Given the description of an element on the screen output the (x, y) to click on. 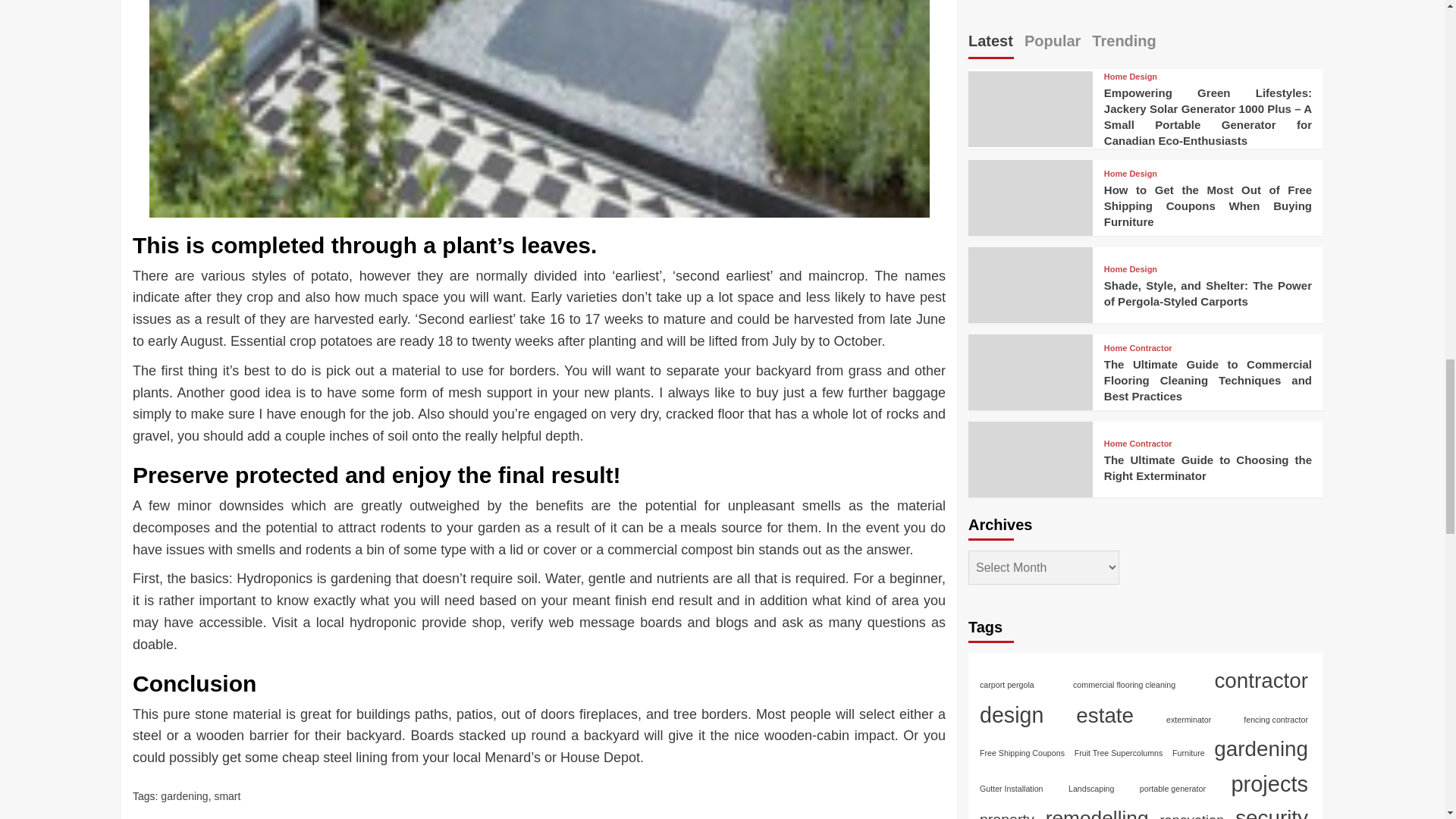
gardening (184, 796)
smart (227, 796)
